Given the description of an element on the screen output the (x, y) to click on. 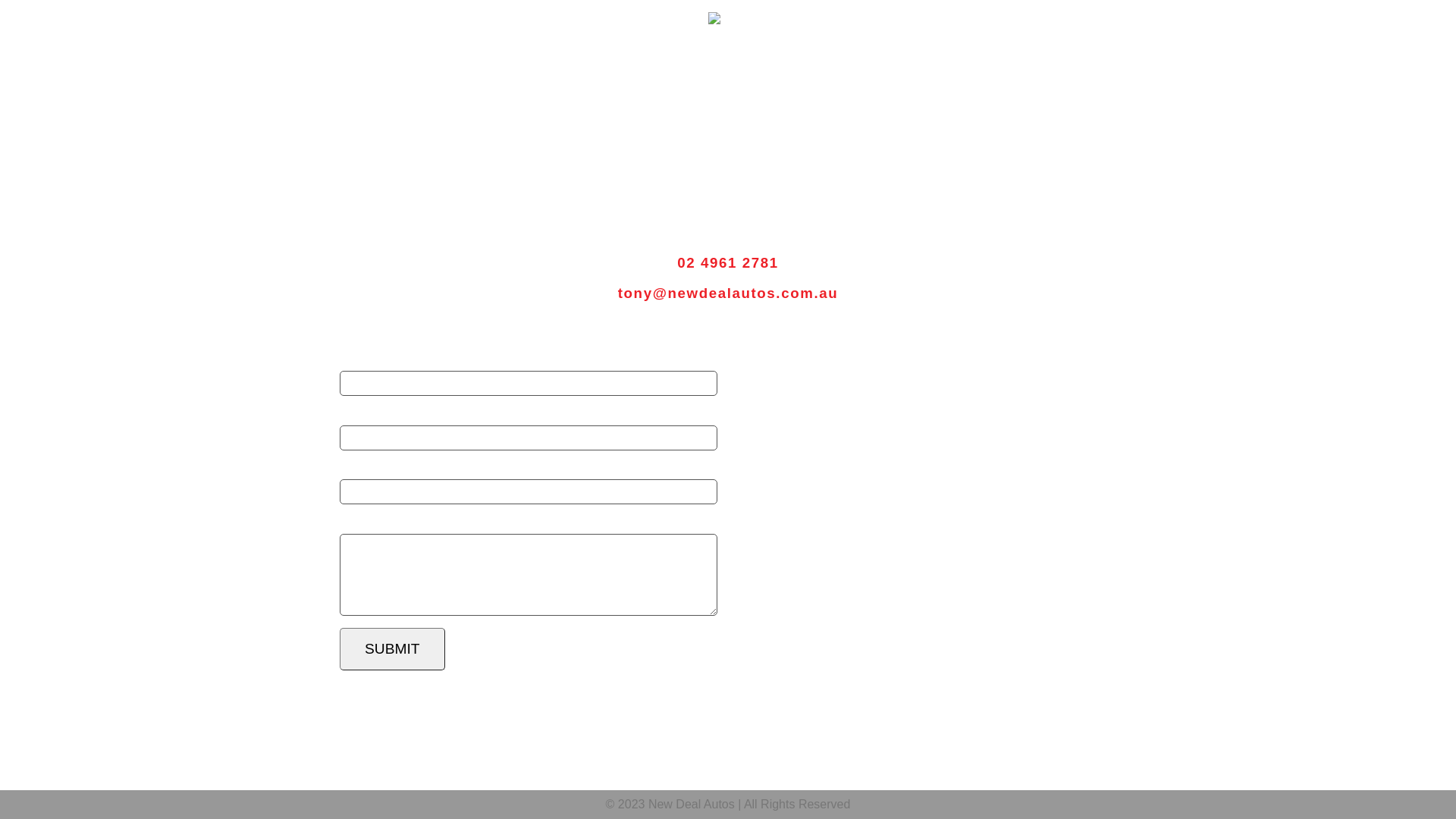
02 4961 2781 Element type: text (727, 262)
tony@newdealautos.com.au Element type: text (727, 293)
SUBMIT Element type: text (392, 648)
